Given the description of an element on the screen output the (x, y) to click on. 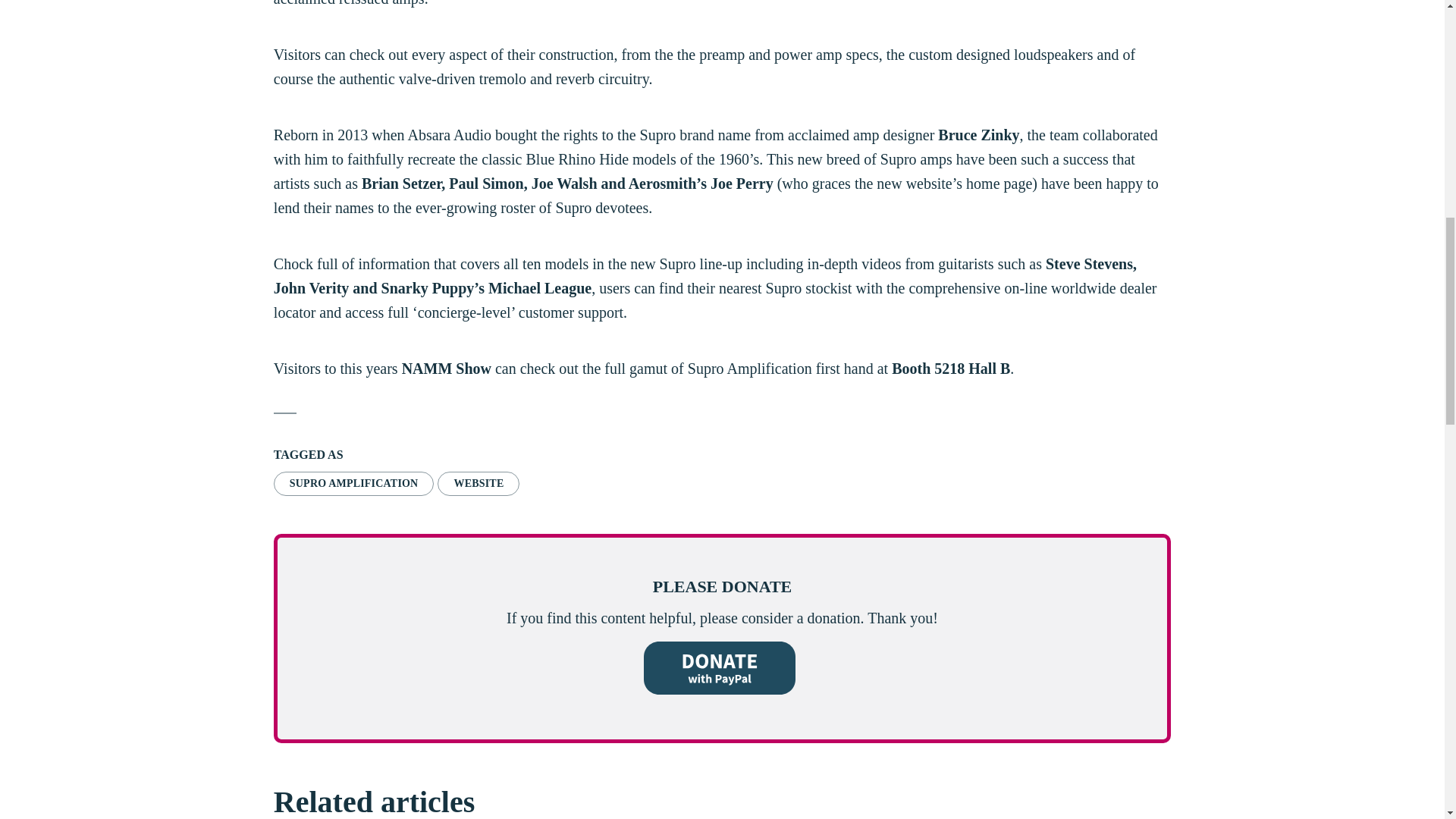
SUPRO AMPLIFICATION (353, 483)
WEBSITE (478, 483)
Add comment (1109, 37)
